Given the description of an element on the screen output the (x, y) to click on. 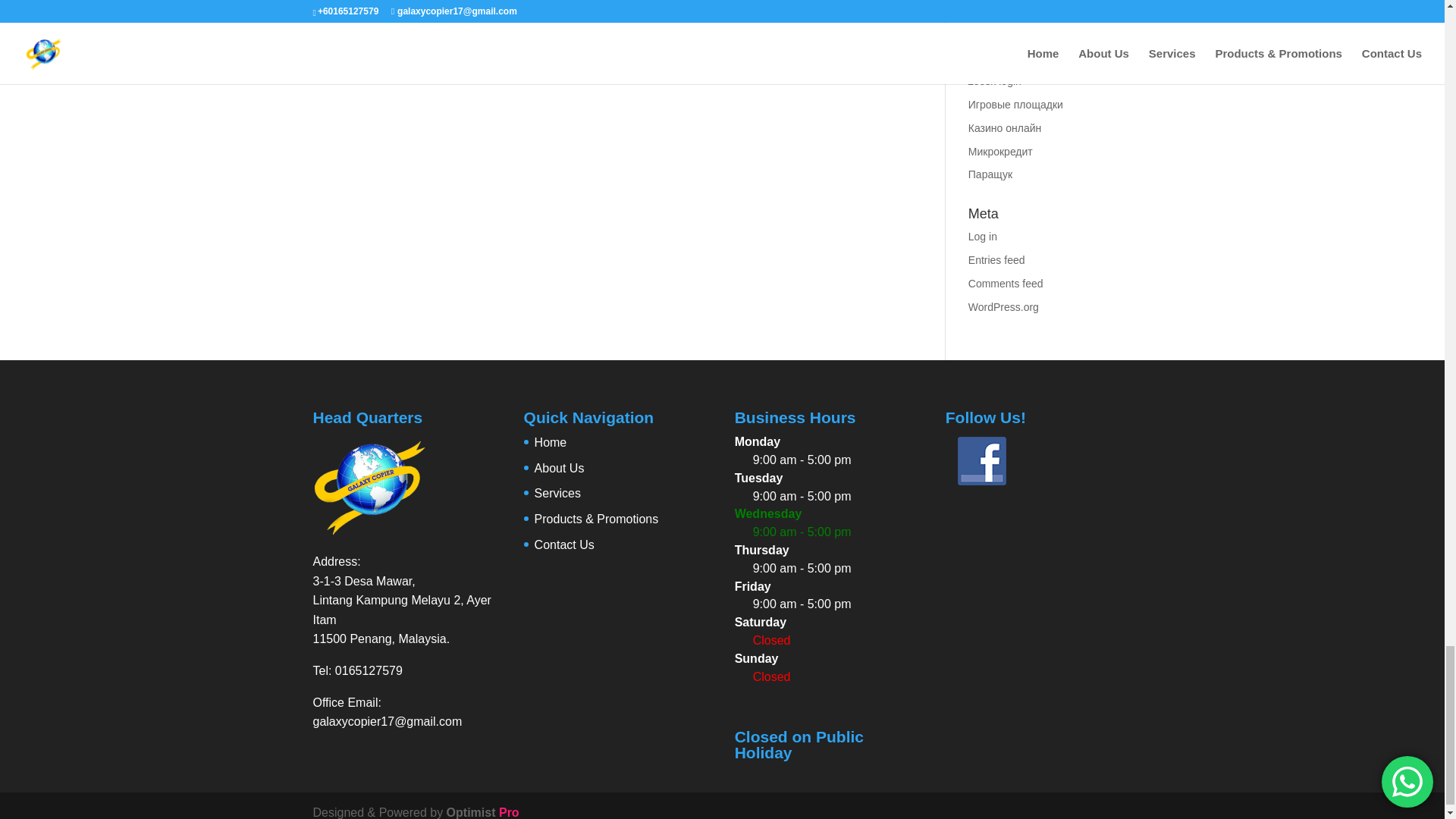
Facebook (982, 460)
Optimist Pro (482, 812)
